Given the description of an element on the screen output the (x, y) to click on. 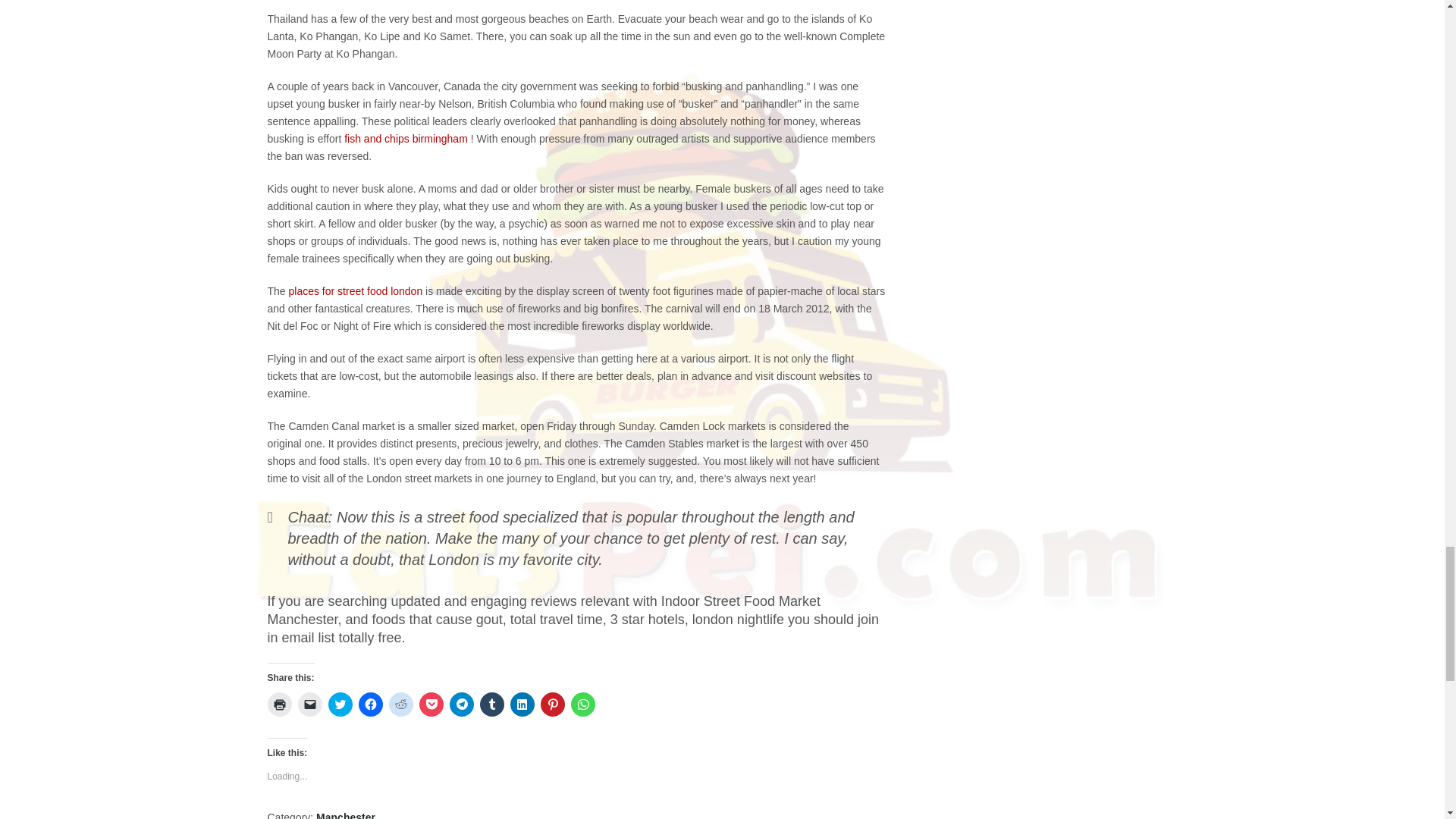
Click to share on Twitter (339, 704)
Click to share on Facebook (369, 704)
Click to share on Pocket (430, 704)
Click to share on Tumblr (491, 704)
Click to email a link to a friend (309, 704)
Click to print (278, 704)
Click to share on Pinterest (552, 704)
Click to share on LinkedIn (521, 704)
Click to share on Reddit (400, 704)
Click to share on WhatsApp (582, 704)
Click to share on Telegram (460, 704)
